Given the description of an element on the screen output the (x, y) to click on. 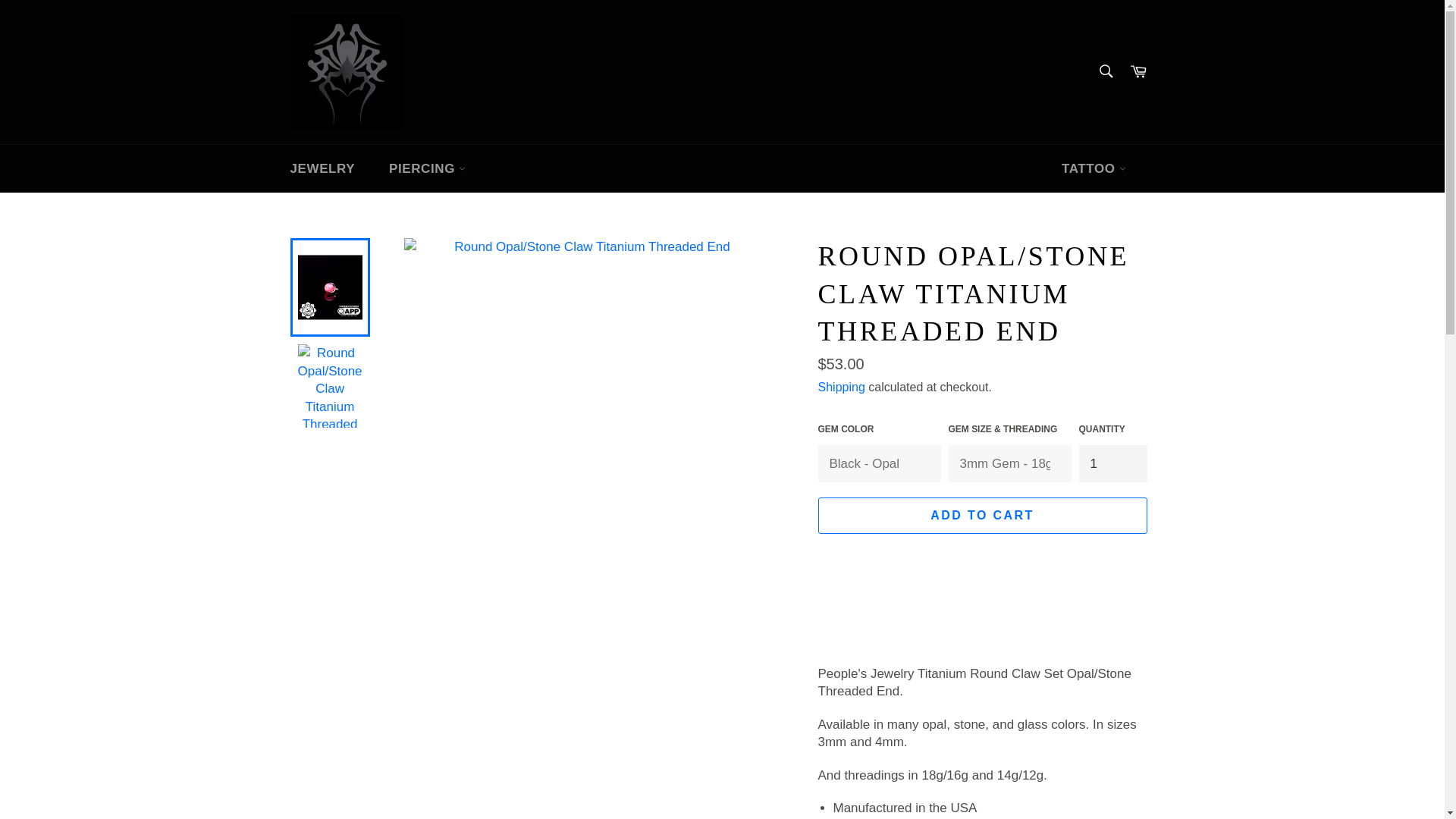
1 (1112, 463)
Cart (1138, 71)
Search (1104, 70)
JEWELRY (322, 168)
